Given the description of an element on the screen output the (x, y) to click on. 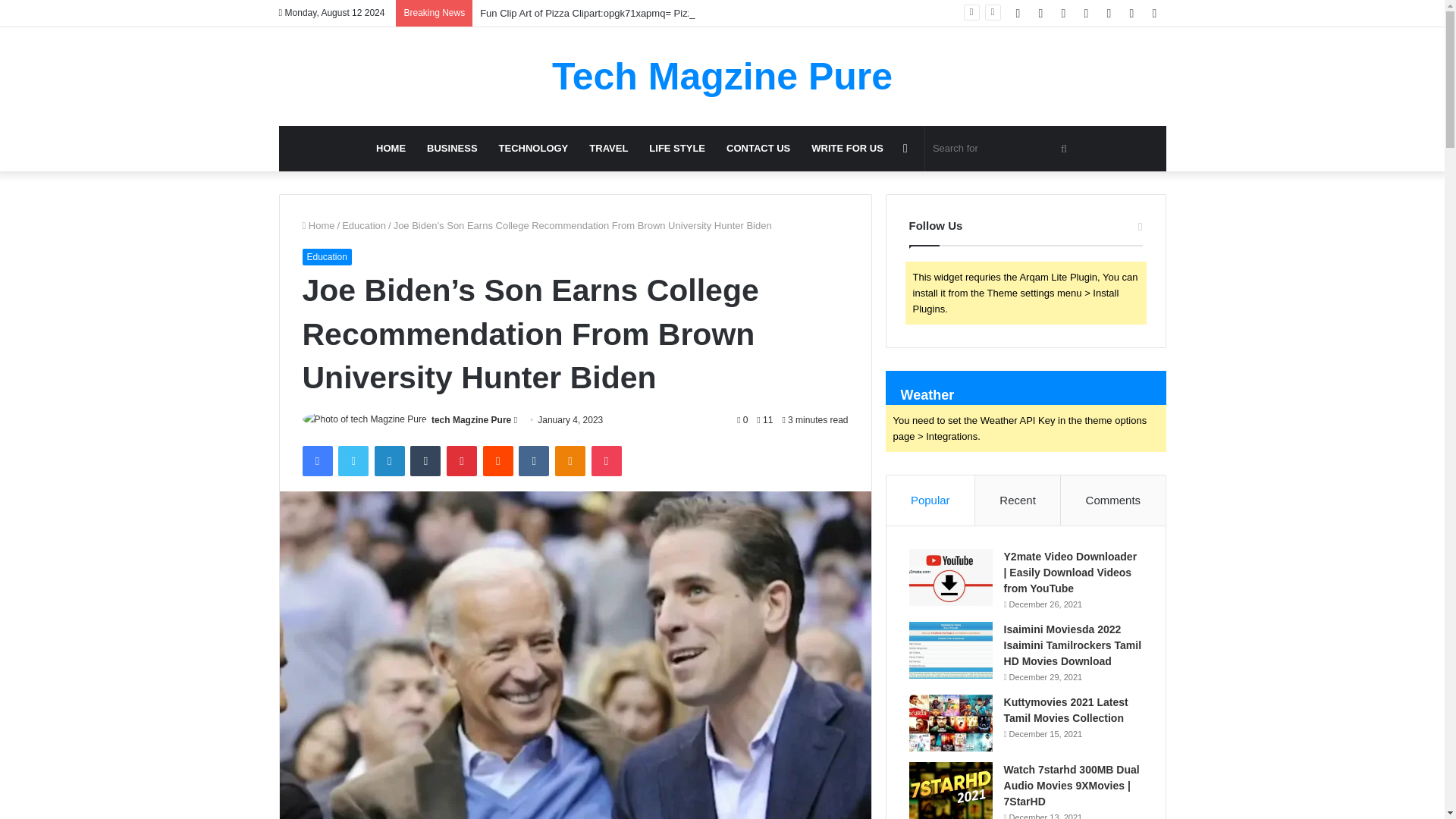
Facebook (316, 460)
Tumblr (425, 460)
BUSINESS (451, 148)
LIFE STYLE (677, 148)
Search for (1001, 148)
LinkedIn (389, 460)
Twitter (352, 460)
LinkedIn (389, 460)
HOME (390, 148)
Pocket (606, 460)
